Given the description of an element on the screen output the (x, y) to click on. 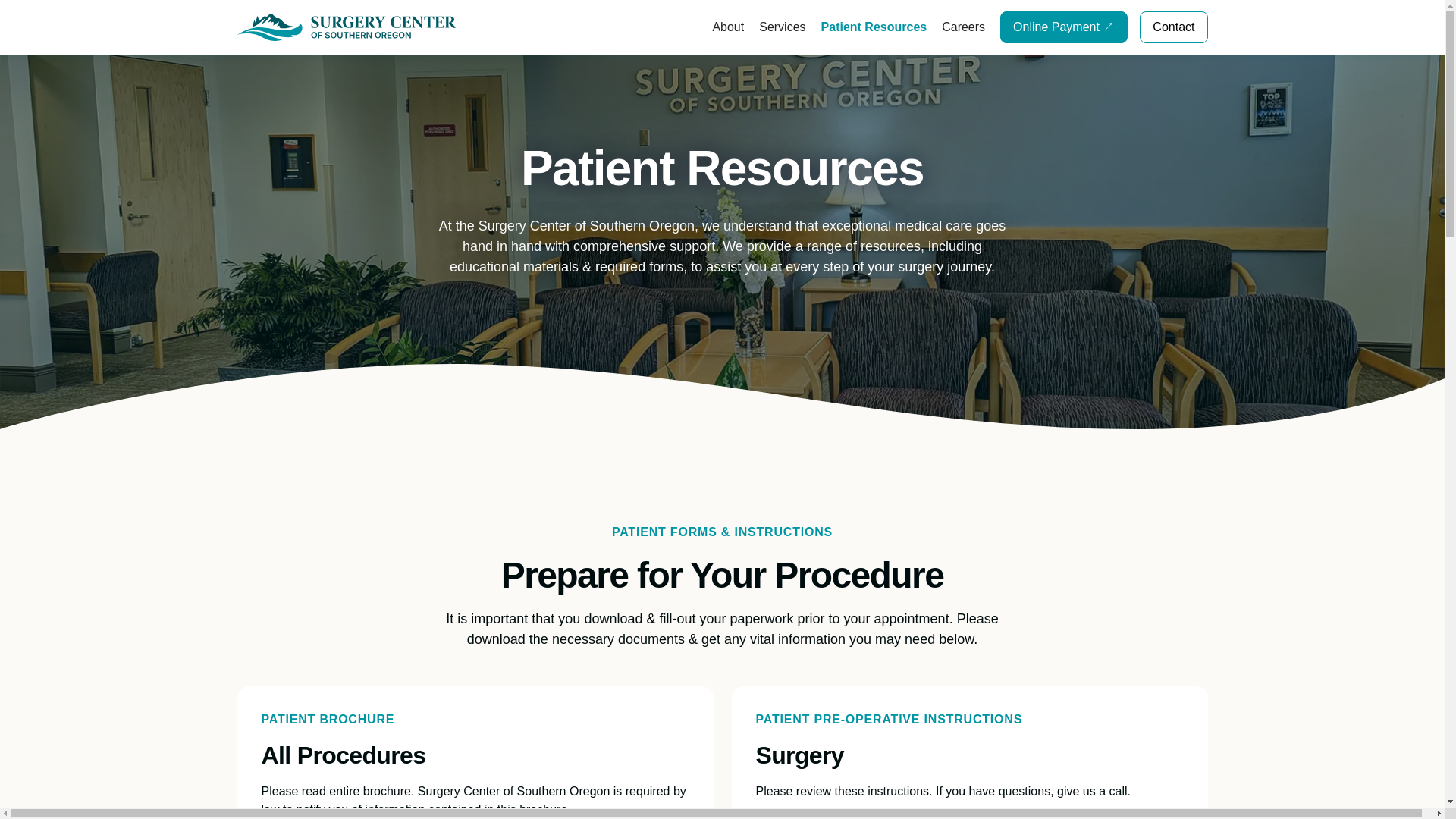
Careers (963, 27)
About (727, 27)
Patient Resources (874, 27)
Services (781, 27)
Contact (1173, 27)
